Given the description of an element on the screen output the (x, y) to click on. 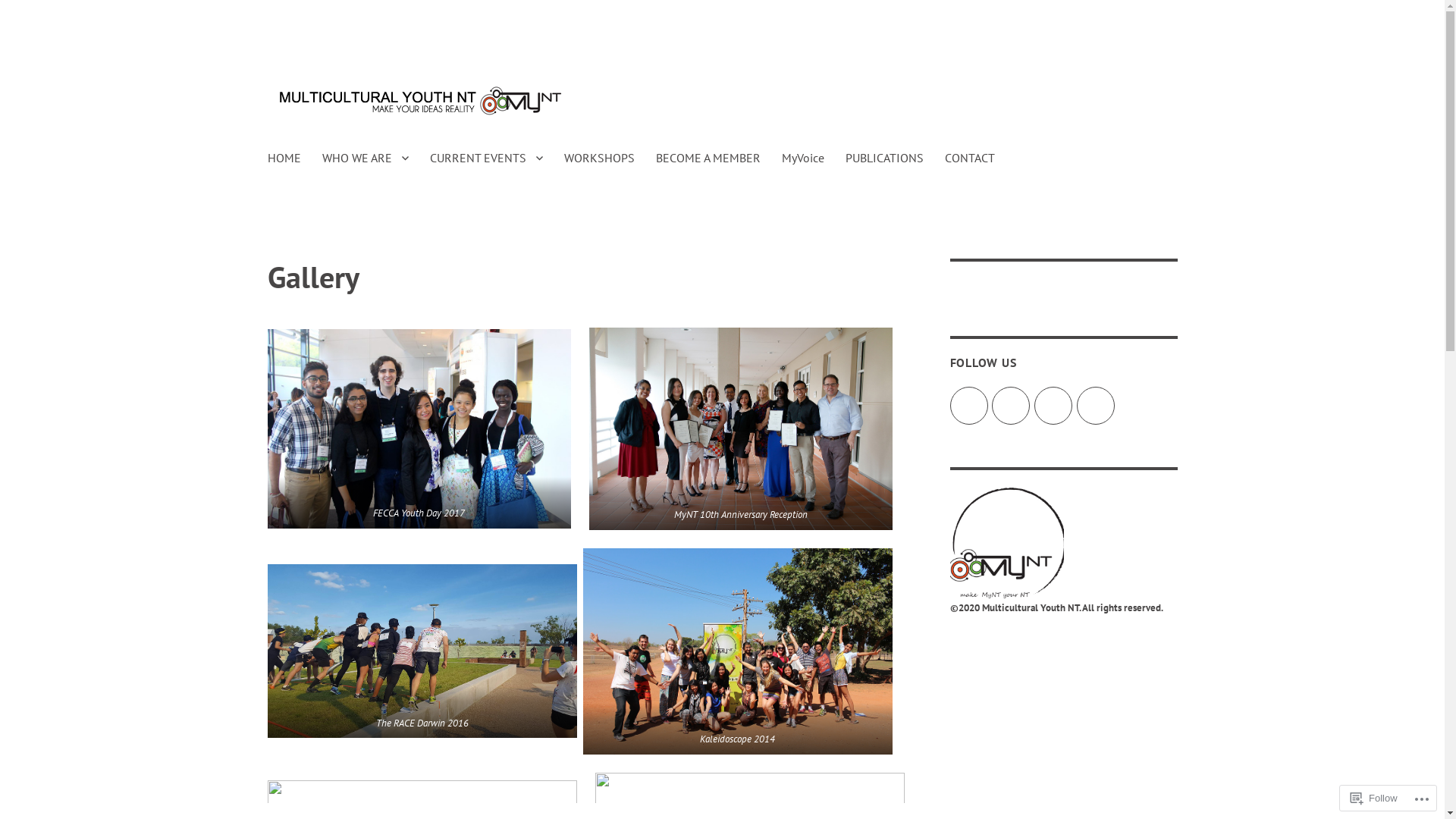
Follow Element type: text (1373, 797)
CURRENT EVENTS Element type: text (485, 157)
WHO WE ARE Element type: text (364, 157)
CONTACT Element type: text (969, 157)
PUBLICATIONS Element type: text (883, 157)
MyVoice Element type: text (802, 157)
Multicultural Youth NT Element type: text (369, 144)
HOME Element type: text (283, 157)
WORKSHOPS Element type: text (599, 157)
BECOME A MEMBER Element type: text (707, 157)
